Given the description of an element on the screen output the (x, y) to click on. 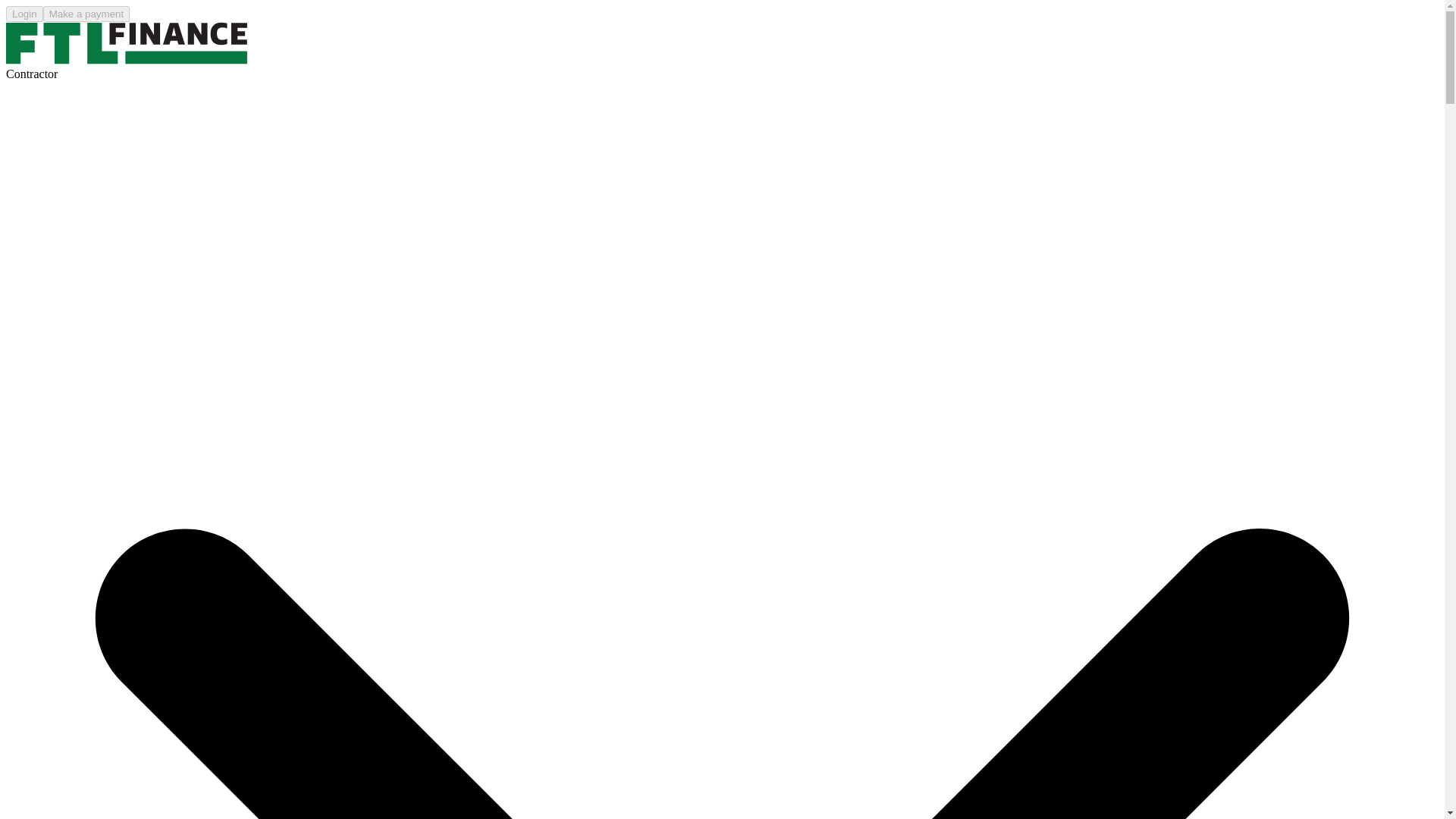
Make a payment (87, 12)
Login (24, 12)
Login (24, 13)
Make a payment (87, 13)
